Given the description of an element on the screen output the (x, y) to click on. 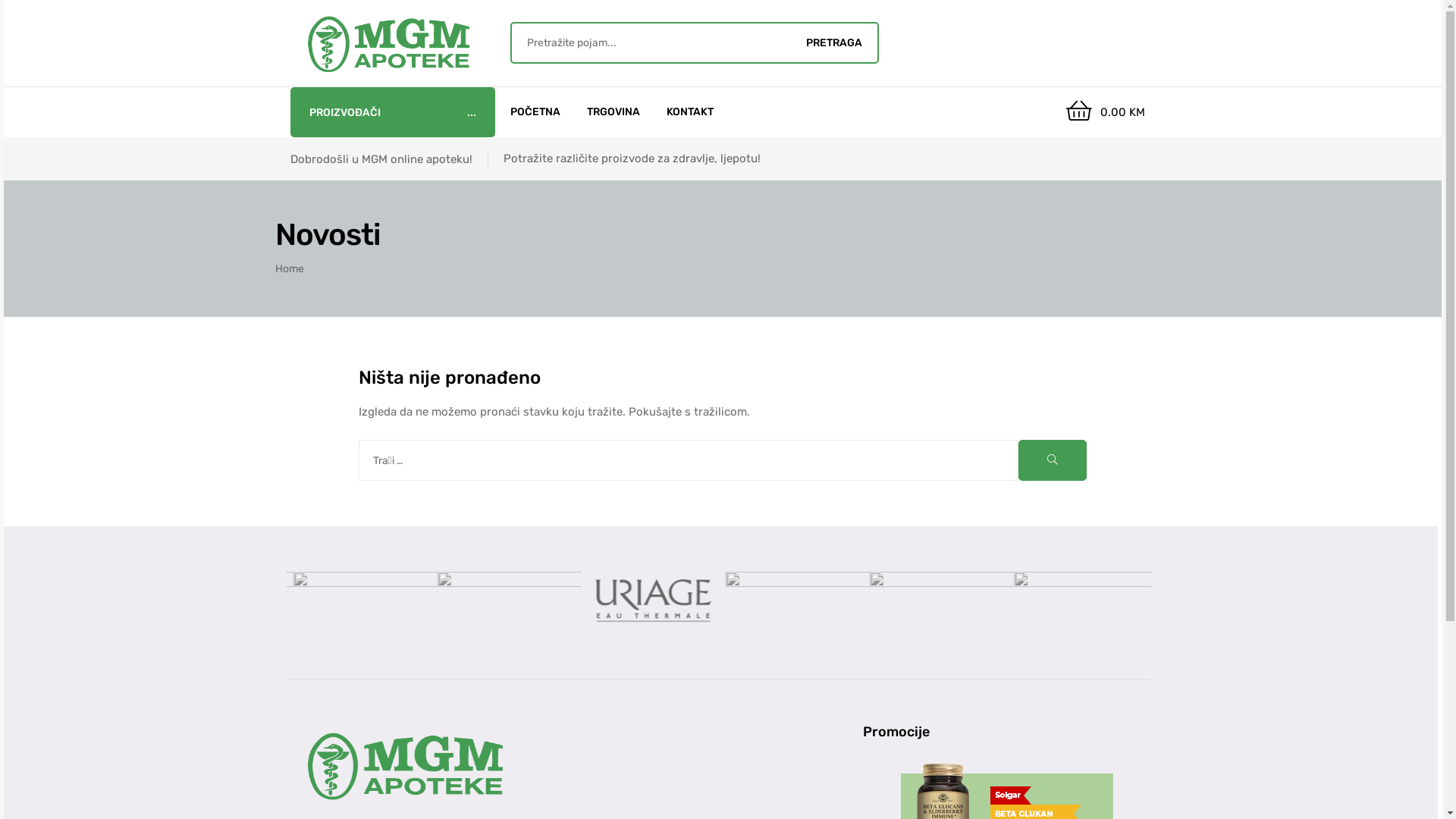
Home Element type: text (288, 268)
Brand Name Element type: hover (646, 600)
TRGOVINA Element type: text (613, 111)
Brand Name Element type: hover (934, 600)
PRETRAGA Element type: text (833, 42)
Brand Name Element type: hover (1079, 600)
Search Element type: hover (650, 42)
Brand Name Element type: hover (502, 600)
Brand Name Element type: hover (358, 600)
Brand Name Element type: hover (790, 604)
   0.00 KM Element type: text (1105, 112)
Brand Name Element type: hover (214, 600)
KONTAKT Element type: text (689, 111)
Brand Name Element type: hover (1223, 600)
